Given the description of an element on the screen output the (x, y) to click on. 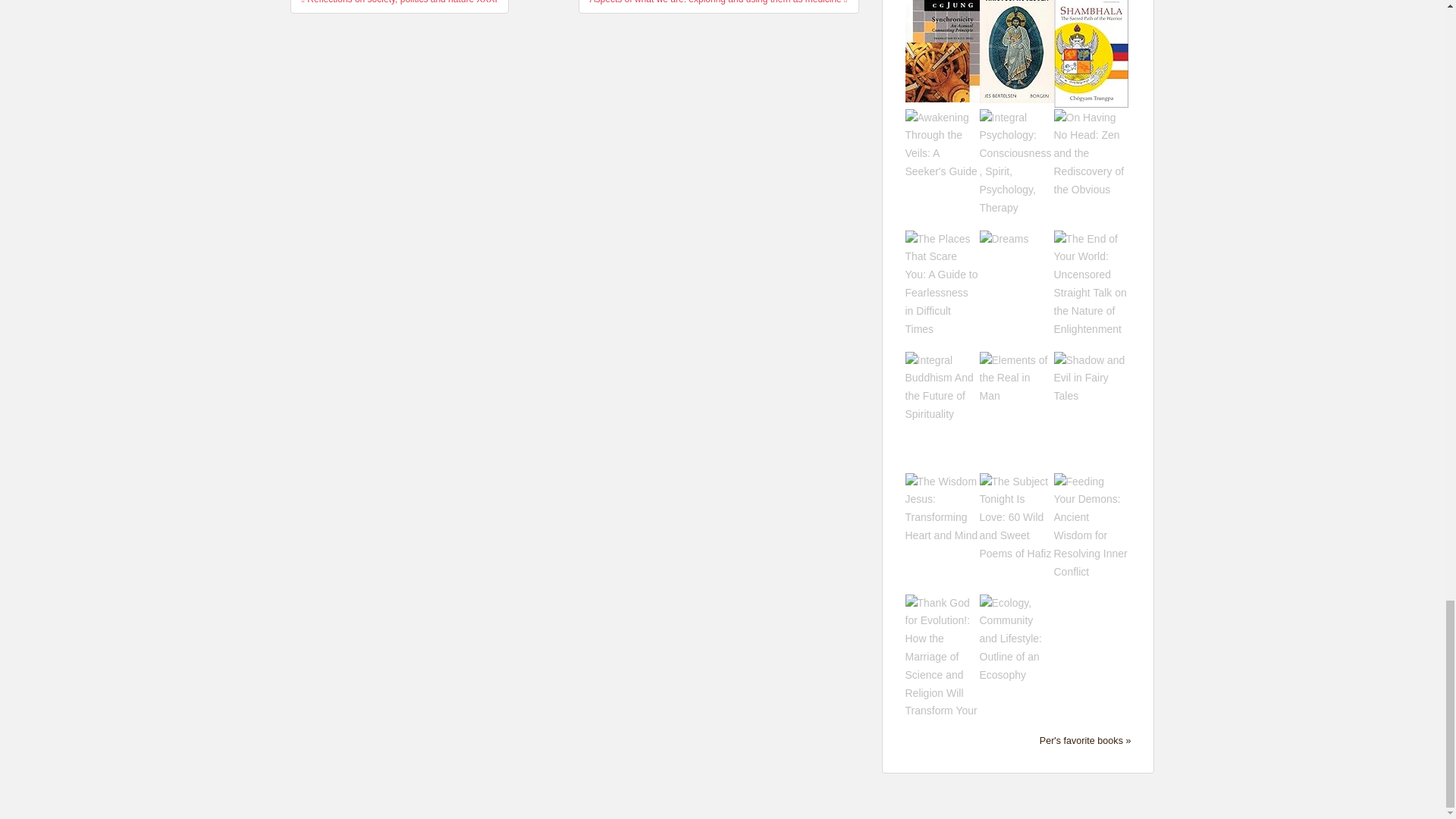
On Having No Head: Zen and the Rediscovery of the Obvious (1091, 152)
Awakening Through the Veils: A Seeker's Guide (942, 143)
Kristusprocessen (1016, 43)
Shambhala: The Sacred Path of the Warrior (1091, 46)
Synchronicity: An Acausal Connecting Principle (942, 43)
